Given the description of an element on the screen output the (x, y) to click on. 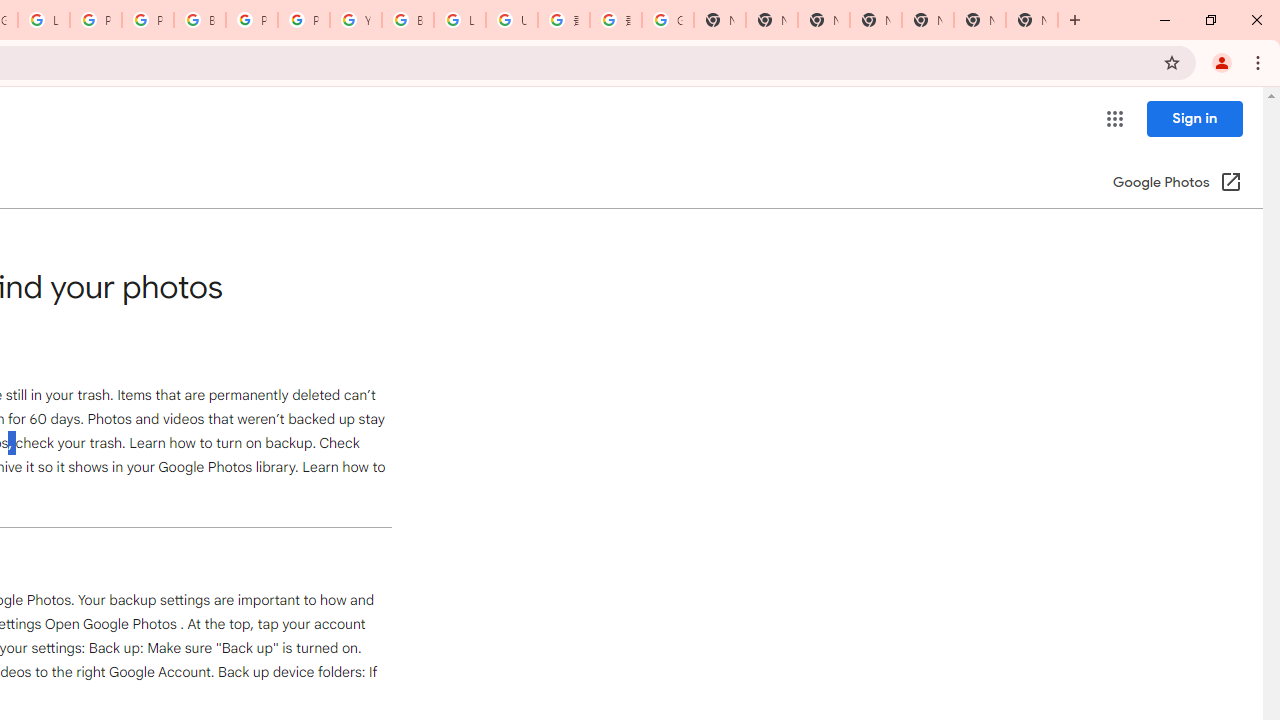
Privacy Help Center - Policies Help (95, 20)
Google Images (667, 20)
Google Photos (Open in a new window) (1177, 183)
